Given the description of an element on the screen output the (x, y) to click on. 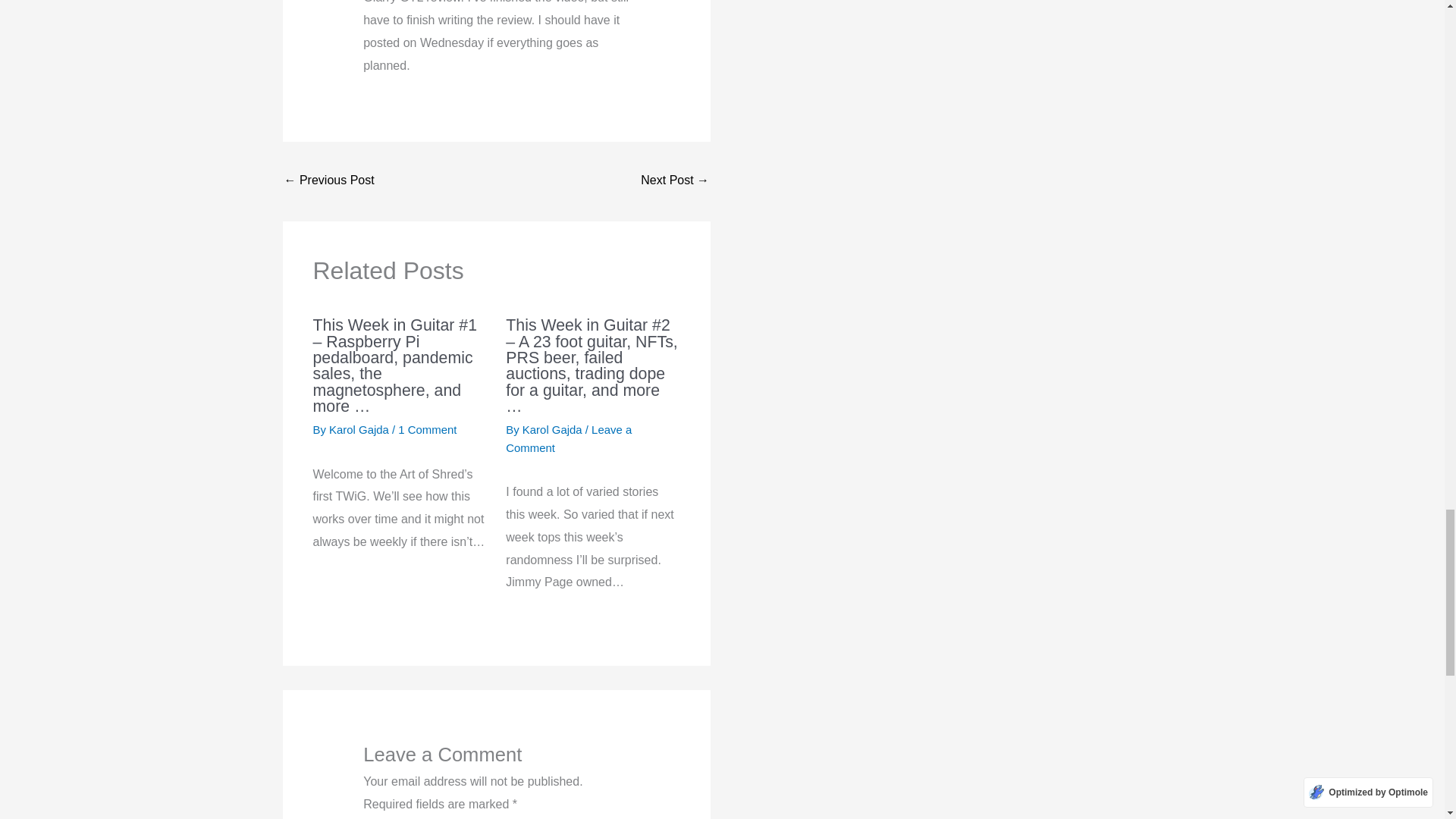
View all posts by Karol Gajda (553, 429)
Karol Gajda (360, 429)
View all posts by Karol Gajda (360, 429)
Leave a Comment (568, 438)
Karol Gajda (553, 429)
1 Comment (427, 429)
